Given the description of an element on the screen output the (x, y) to click on. 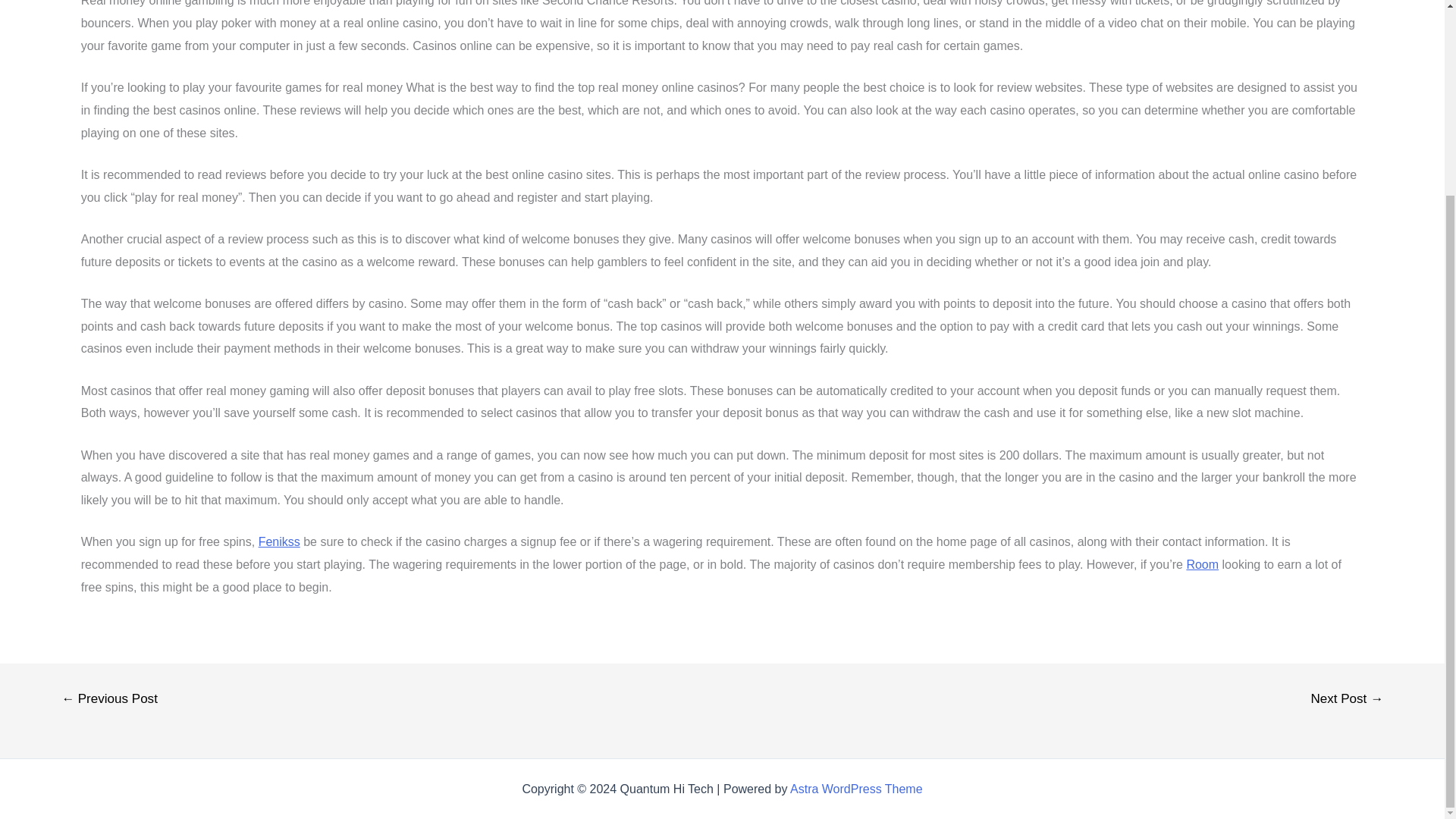
Fenikss (279, 541)
Room (1202, 563)
Astra WordPress Theme (856, 788)
